Given the description of an element on the screen output the (x, y) to click on. 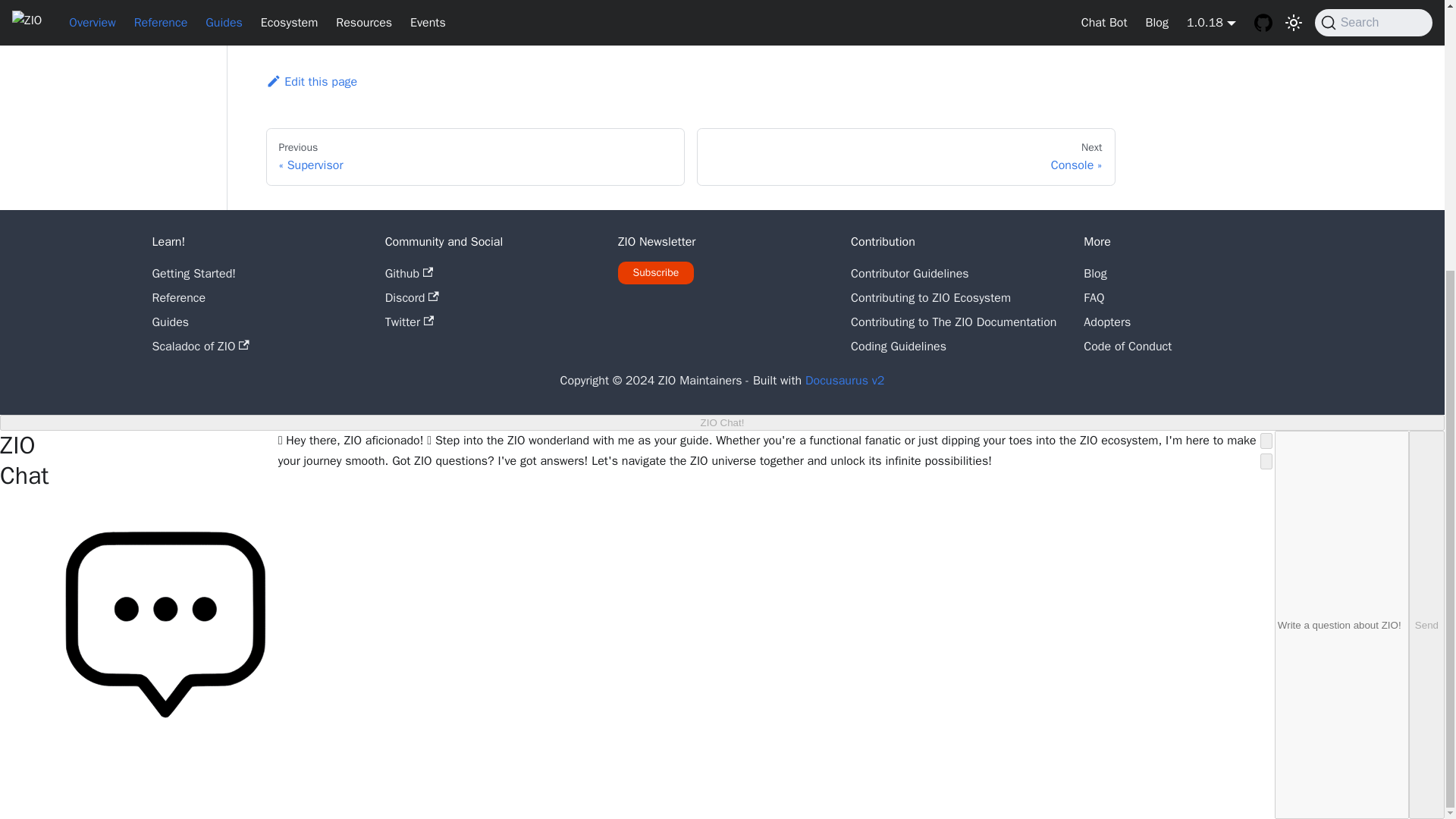
Edit this page (310, 81)
System (474, 156)
Blocking (309, 25)
